Given the description of an element on the screen output the (x, y) to click on. 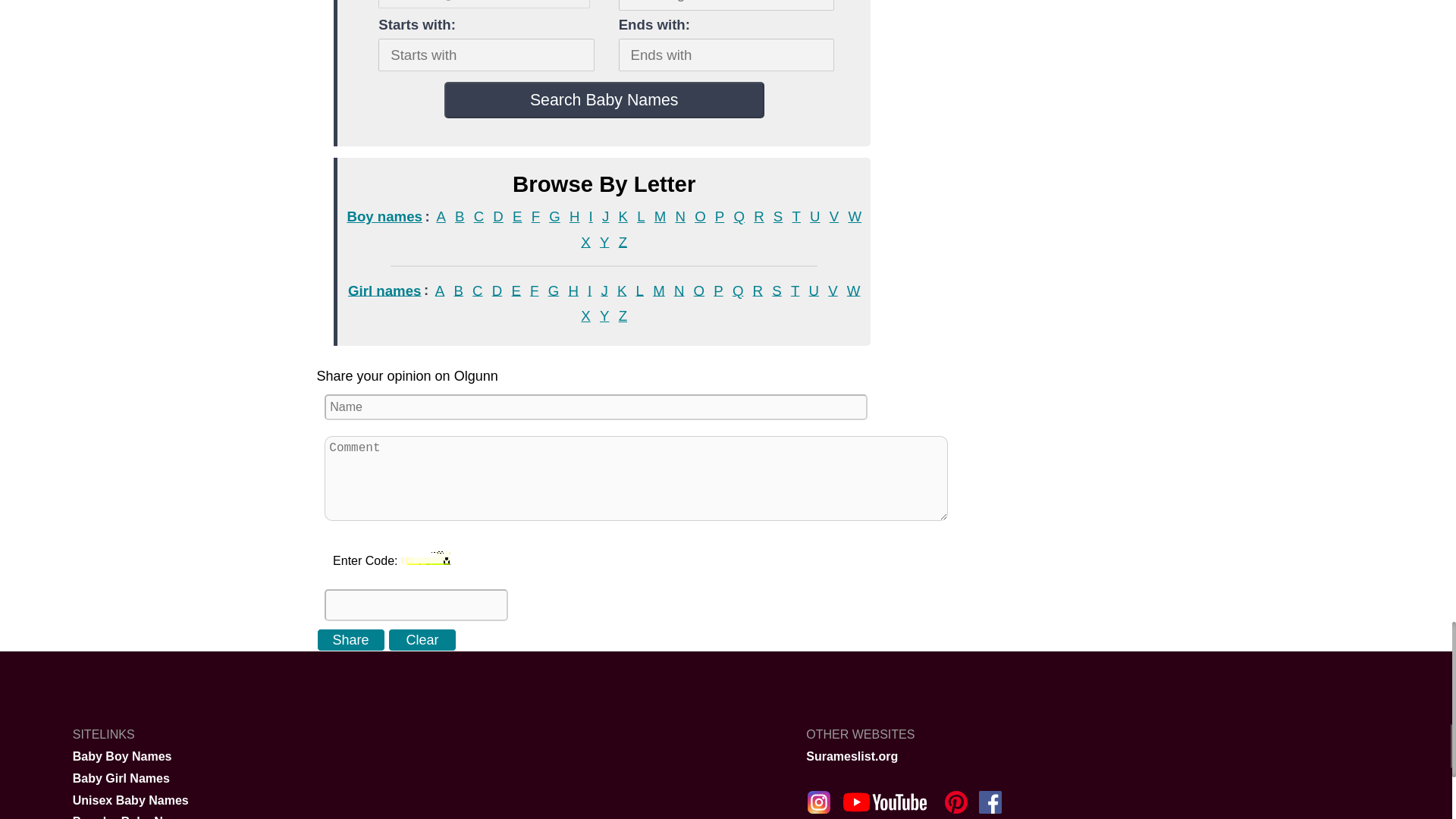
Clear (422, 639)
Share (351, 639)
Search Baby Names (604, 99)
